Given the description of an element on the screen output the (x, y) to click on. 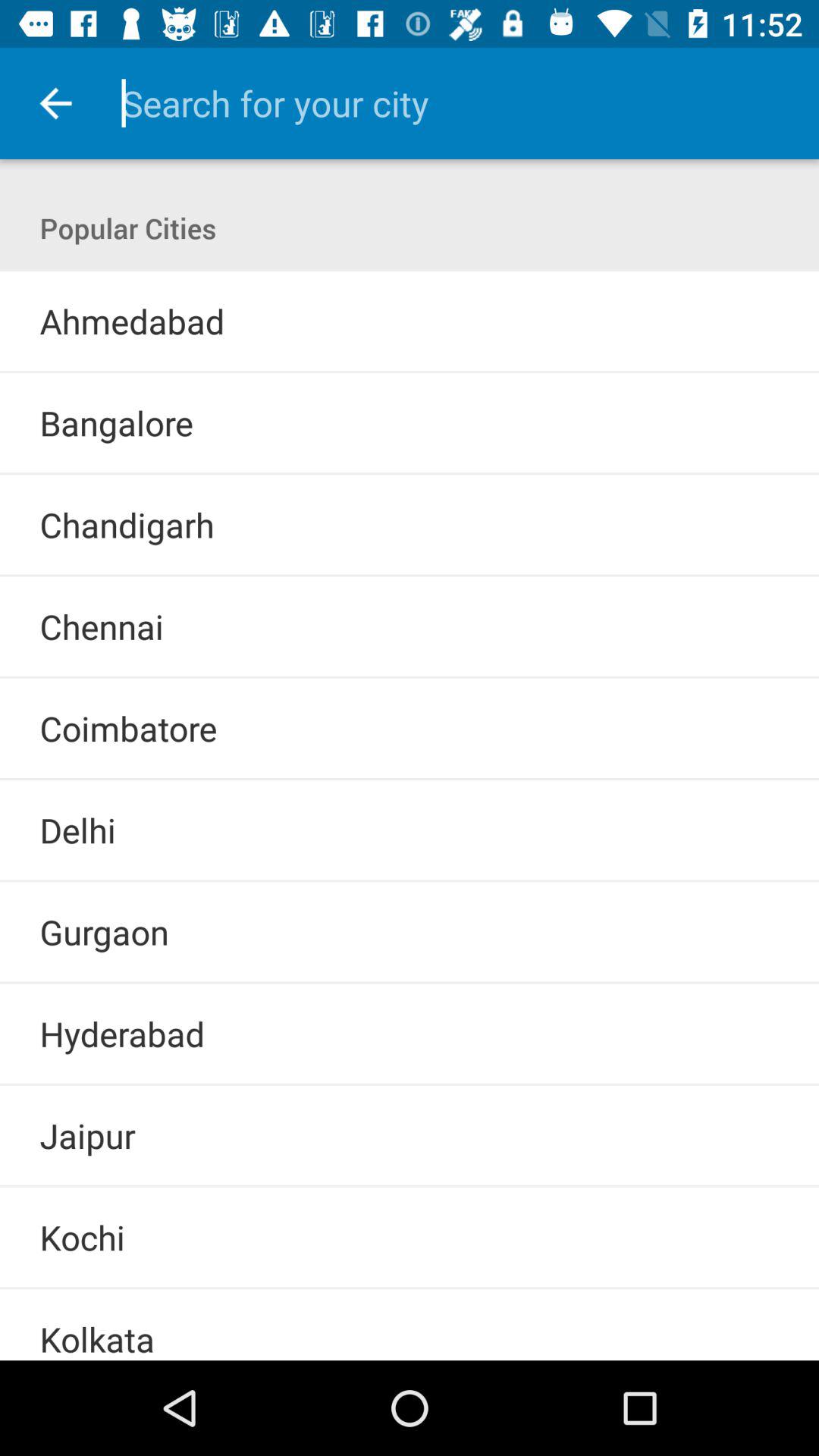
search bar to find a specific city (449, 102)
